Given the description of an element on the screen output the (x, y) to click on. 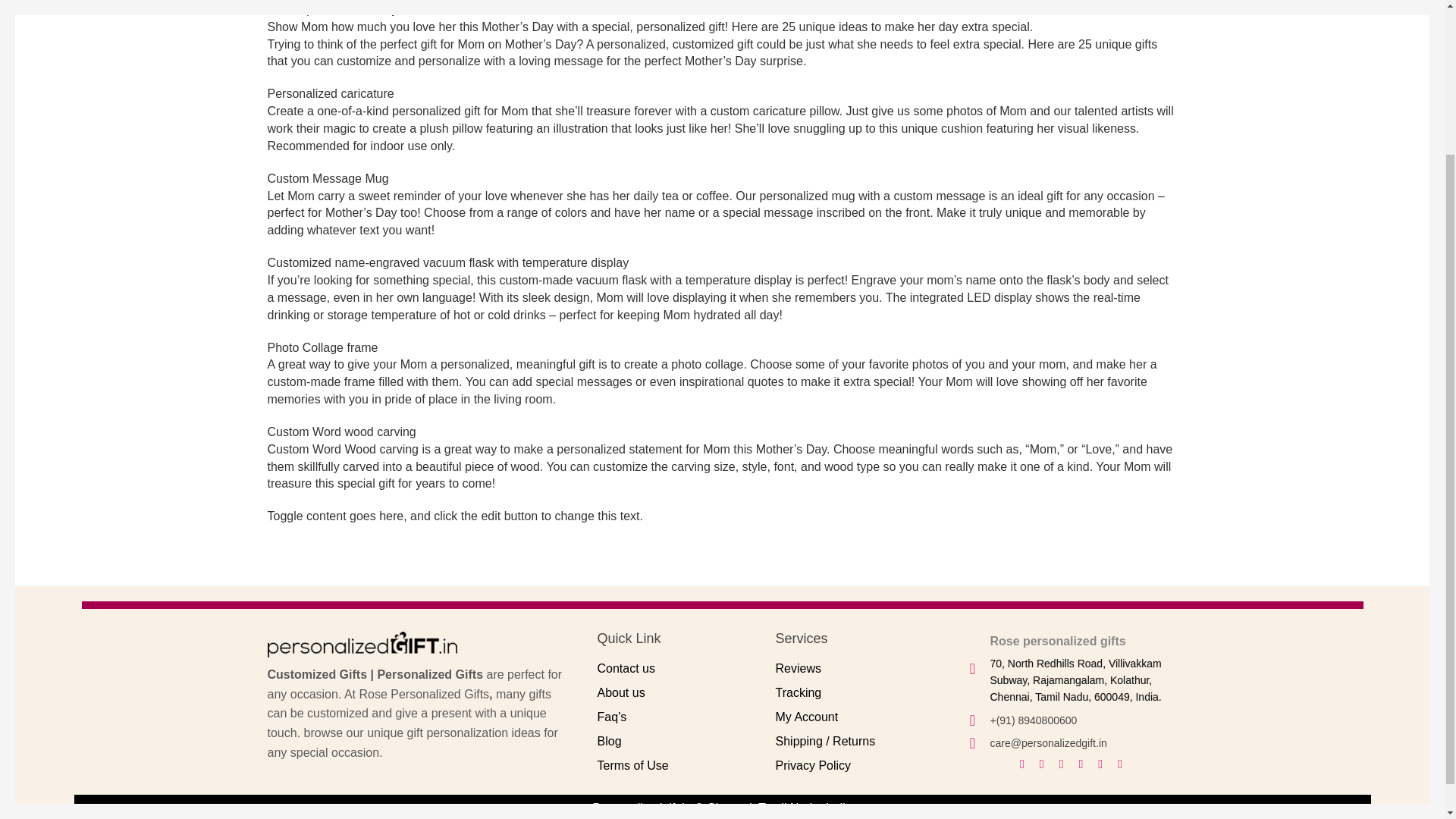
Tracking (797, 692)
Reviews (797, 667)
Register (1378, 269)
About us (620, 692)
Log in (1372, 84)
Blog (608, 740)
Terms of Use (632, 765)
Contact us (625, 667)
